Given the description of an element on the screen output the (x, y) to click on. 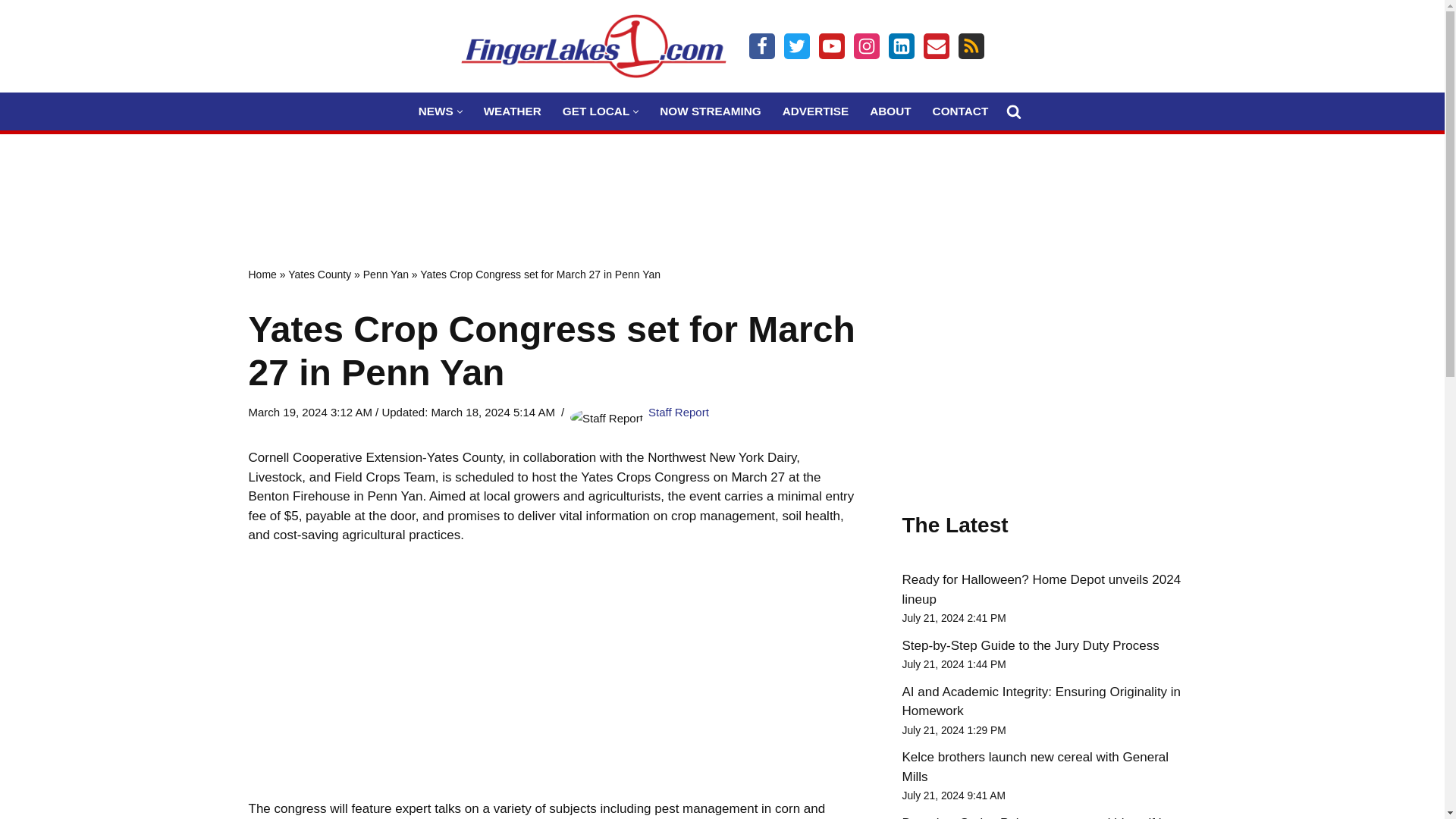
Skip to content (11, 31)
GET LOCAL (595, 111)
LinkIn (901, 45)
Twitter (796, 45)
Advertisement (721, 183)
Email Us (936, 45)
Youtube (831, 45)
ADVERTISE (815, 111)
Instagram (866, 45)
NOW STREAMING (709, 111)
CONTACT (960, 111)
ABOUT (890, 111)
WEATHER (512, 111)
Feed (971, 45)
NEWS (435, 111)
